Given the description of an element on the screen output the (x, y) to click on. 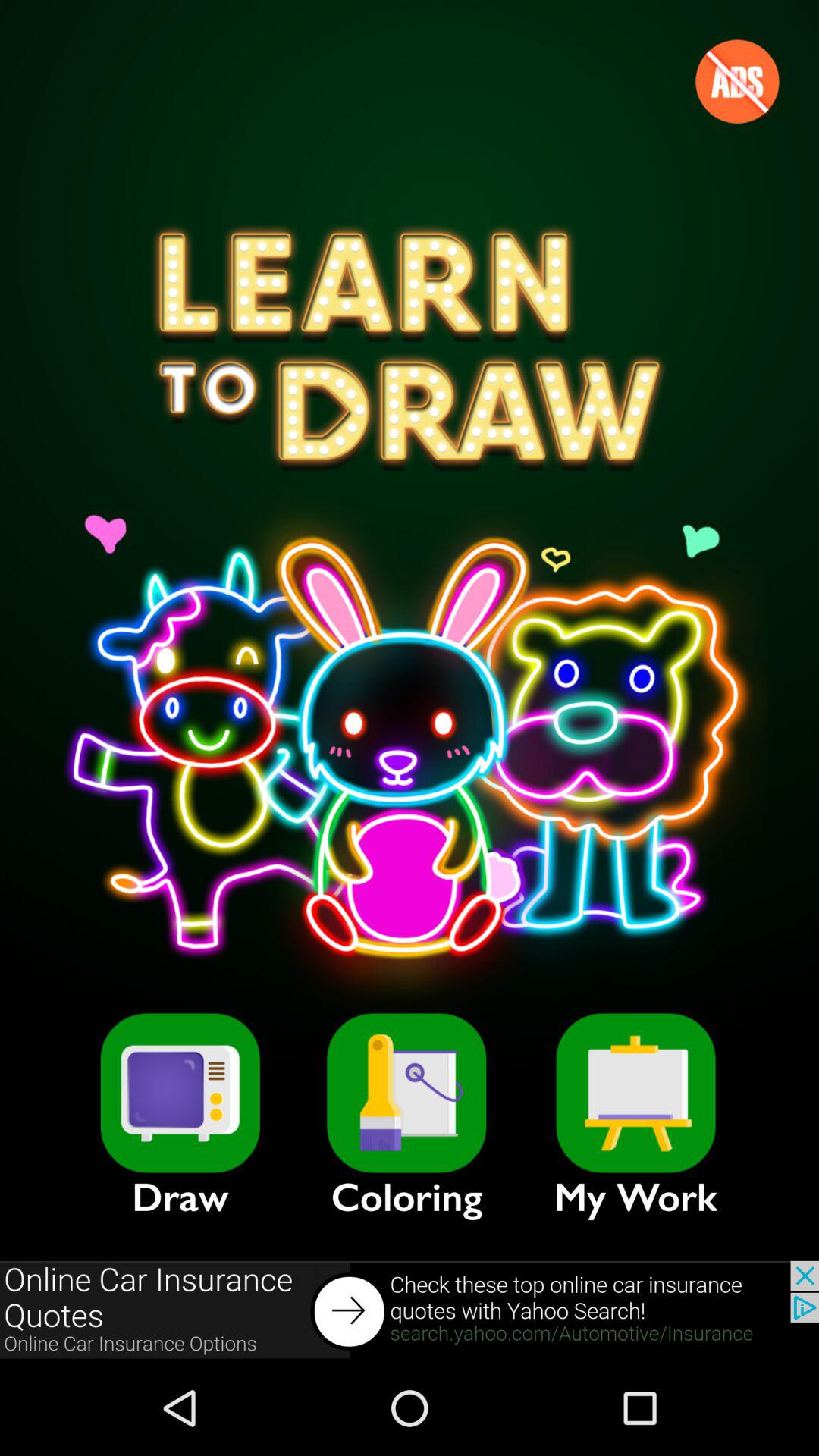
choose coloring (406, 1092)
